Given the description of an element on the screen output the (x, y) to click on. 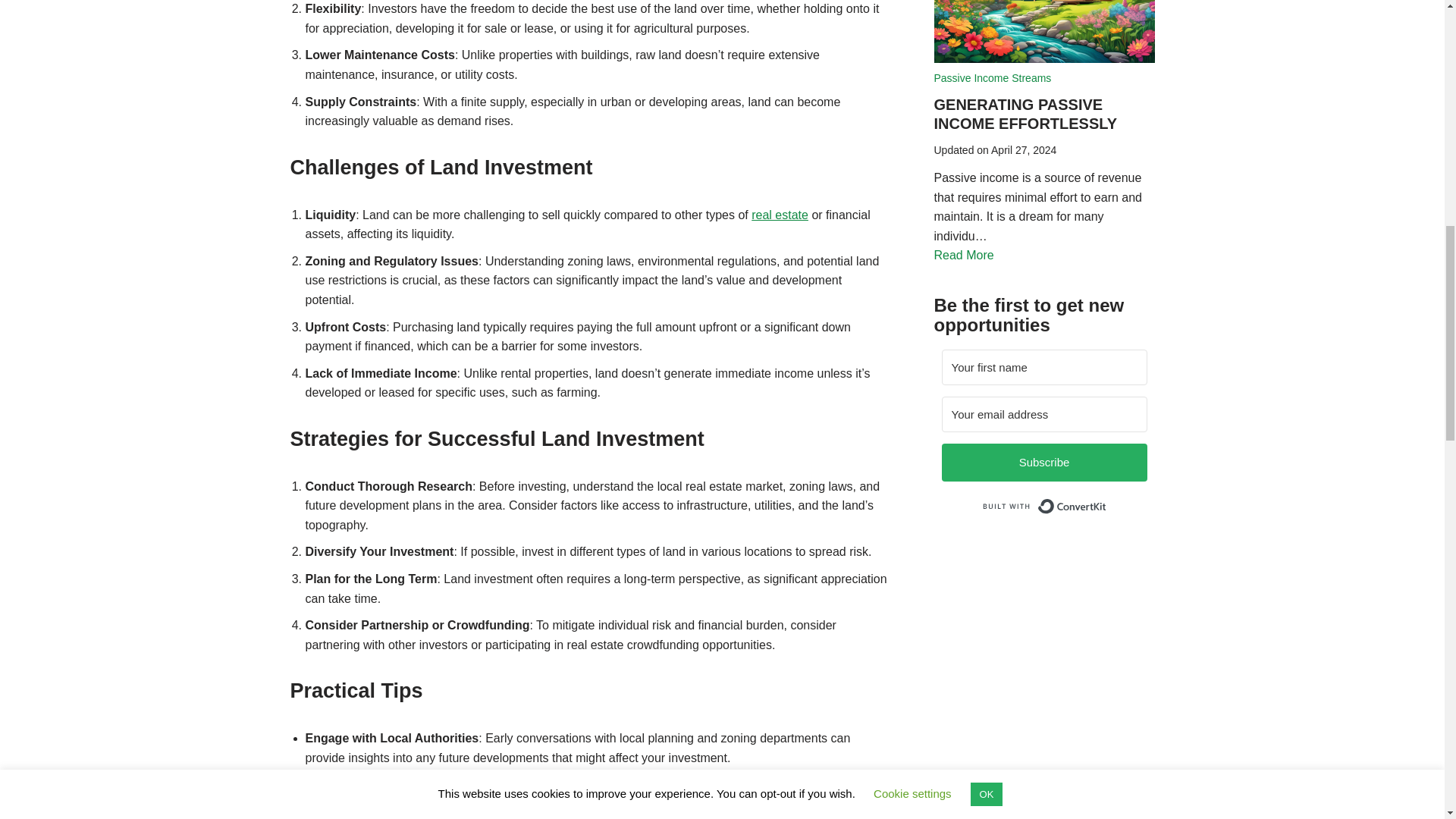
real estate (779, 214)
